Given the description of an element on the screen output the (x, y) to click on. 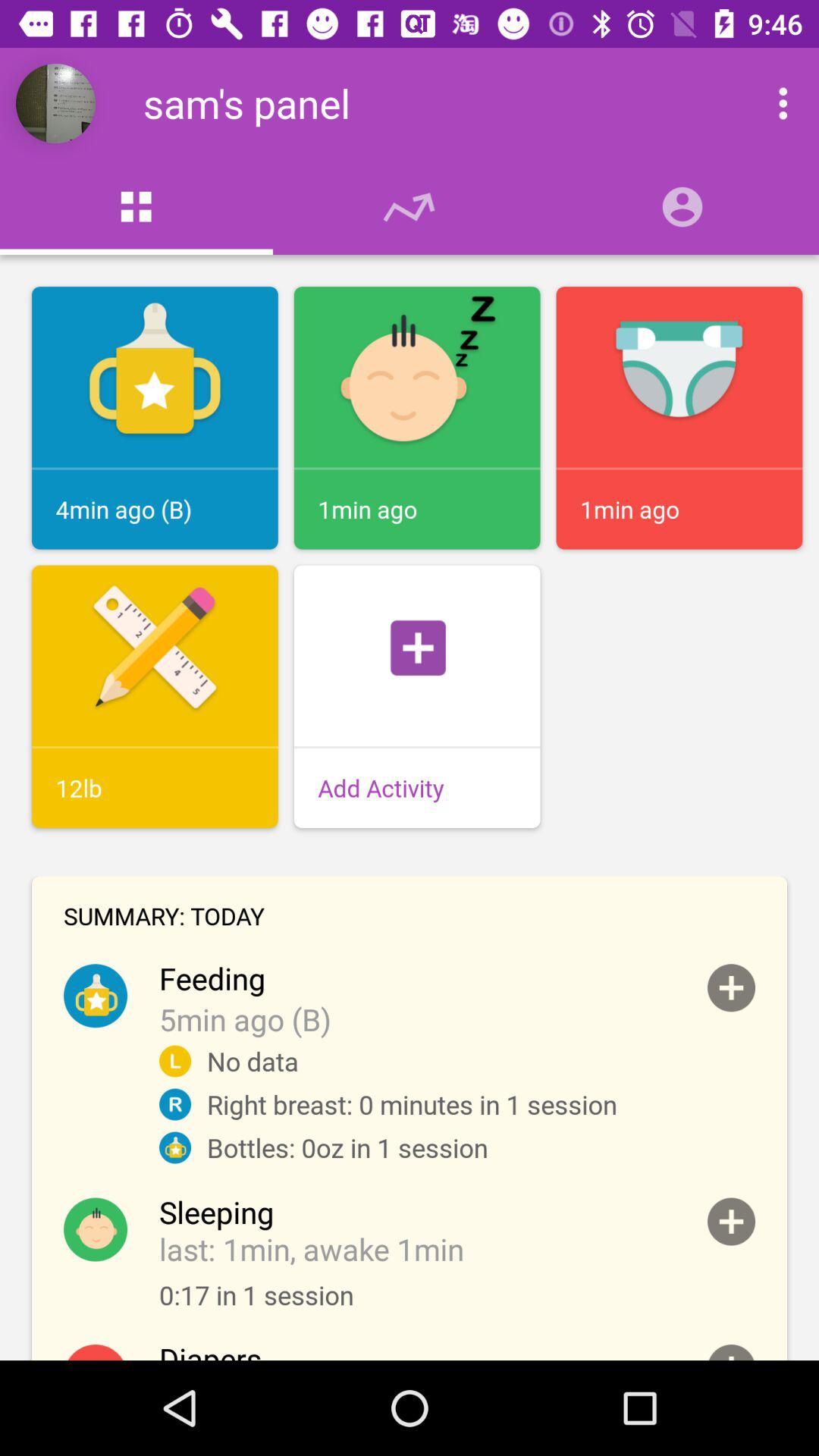
more options (767, 103)
